Given the description of an element on the screen output the (x, y) to click on. 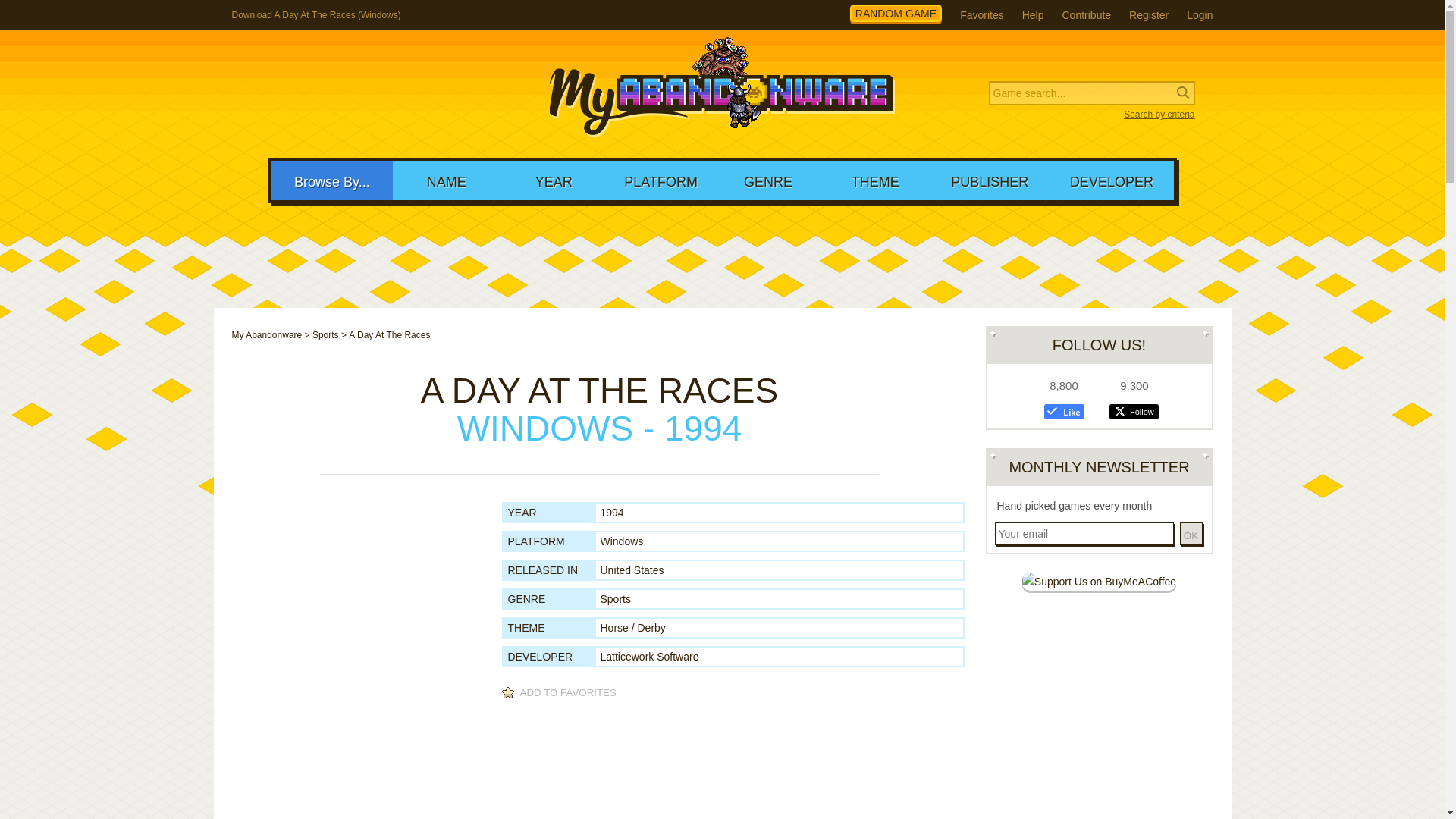
search (98, 12)
Login MAW (1199, 14)
1994 (611, 512)
THEME (875, 179)
Browse games of this theme (632, 627)
Help us by contributing (1085, 14)
Browse games of this genre (614, 598)
RANDOM GAME (896, 13)
Add to favorites (561, 693)
Create an account (1149, 14)
YEAR (553, 179)
NAME (446, 179)
Search by criteria (1091, 114)
Real count is close to 29800 (332, 93)
Browse your Favorite Games (981, 14)
